Given the description of an element on the screen output the (x, y) to click on. 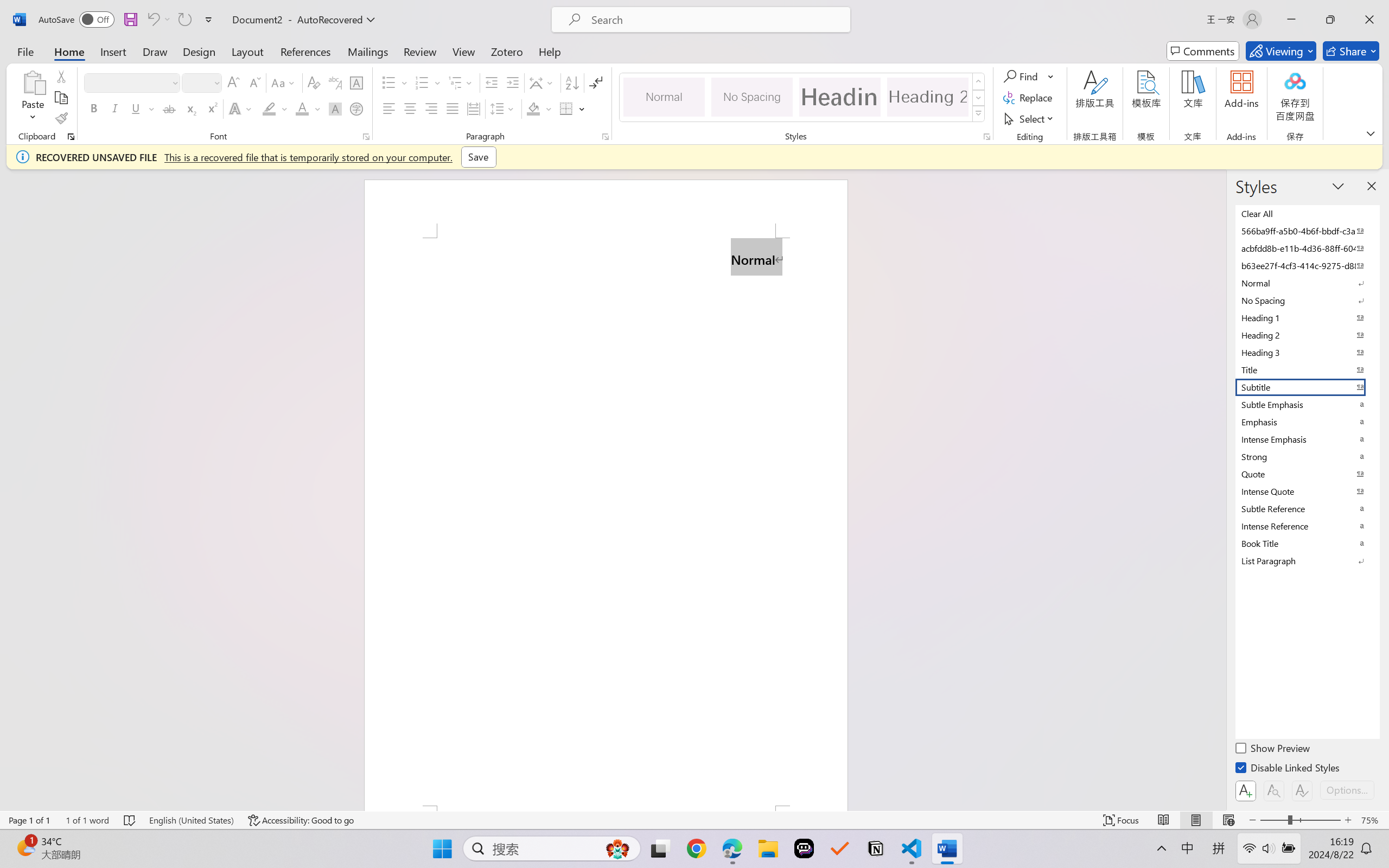
566ba9ff-a5b0-4b6f-bbdf-c3ab41993fc2 (1306, 230)
Format Painter (60, 118)
Show Preview (1273, 749)
Class: NetUIScrollBar (1219, 489)
Zoom 75% (1372, 819)
Row up (978, 81)
Heading 2 (927, 96)
Title (1306, 369)
List Paragraph (1306, 560)
